Given the description of an element on the screen output the (x, y) to click on. 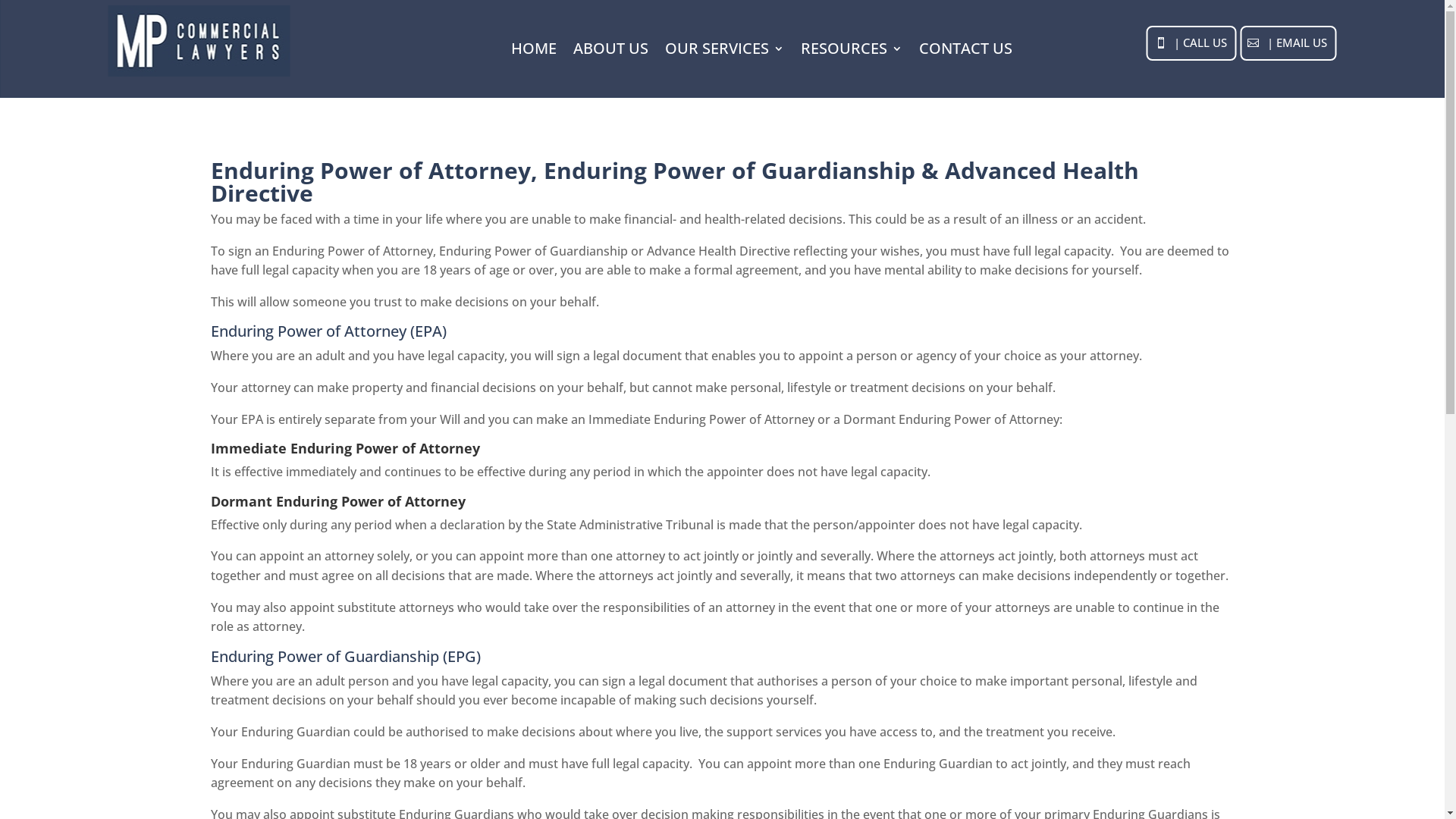
| CALL US Element type: text (1190, 42)
ABOUT US Element type: text (610, 51)
MPCL - Small Element type: hover (199, 40)
| EMAIL US Element type: text (1288, 42)
OUR SERVICES Element type: text (724, 51)
HOME Element type: text (533, 51)
CONTACT US Element type: text (965, 51)
RESOURCES Element type: text (851, 51)
